Given the description of an element on the screen output the (x, y) to click on. 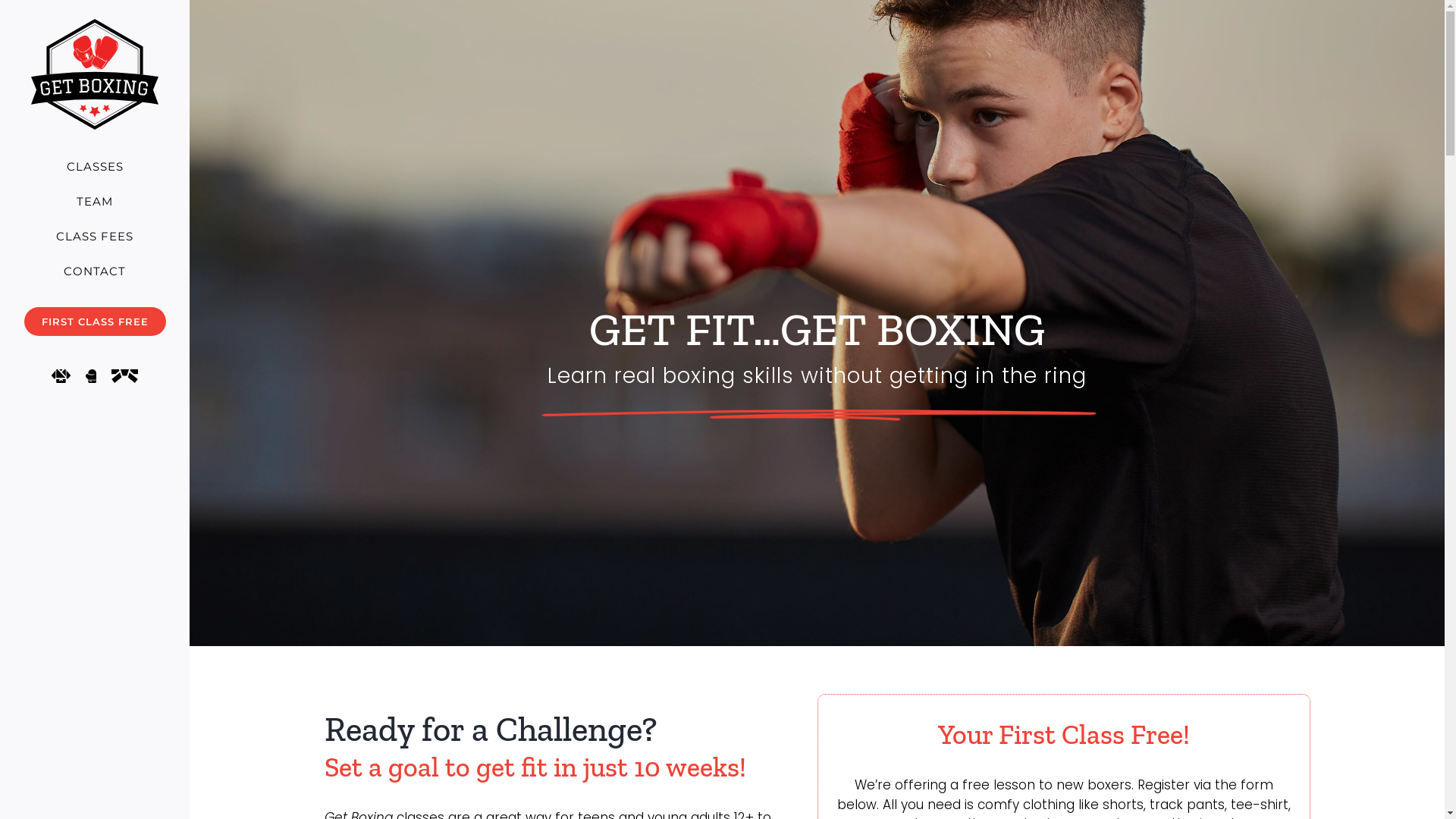
Shudokan Karate Element type: text (124, 375)
TEAM Element type: text (94, 201)
Boxing for Kids Element type: text (91, 375)
CONTACT Element type: text (94, 271)
FIRST CLASS FREE Element type: text (94, 321)
Karate for Kids Element type: text (60, 375)
CLASS FEES Element type: text (94, 236)
CLASSES Element type: text (94, 166)
